Given the description of an element on the screen output the (x, y) to click on. 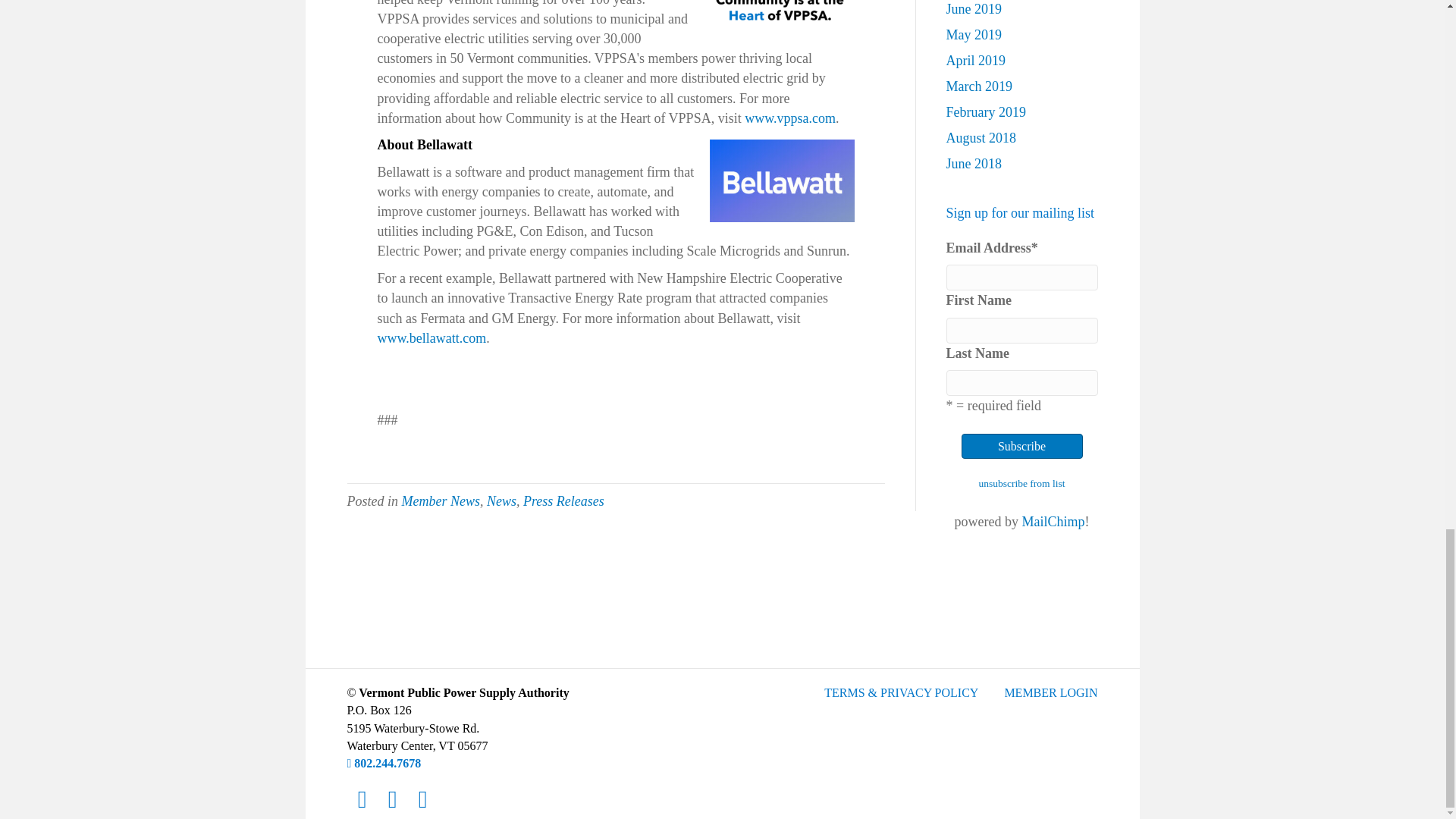
Subscribe (1021, 446)
